Given the description of an element on the screen output the (x, y) to click on. 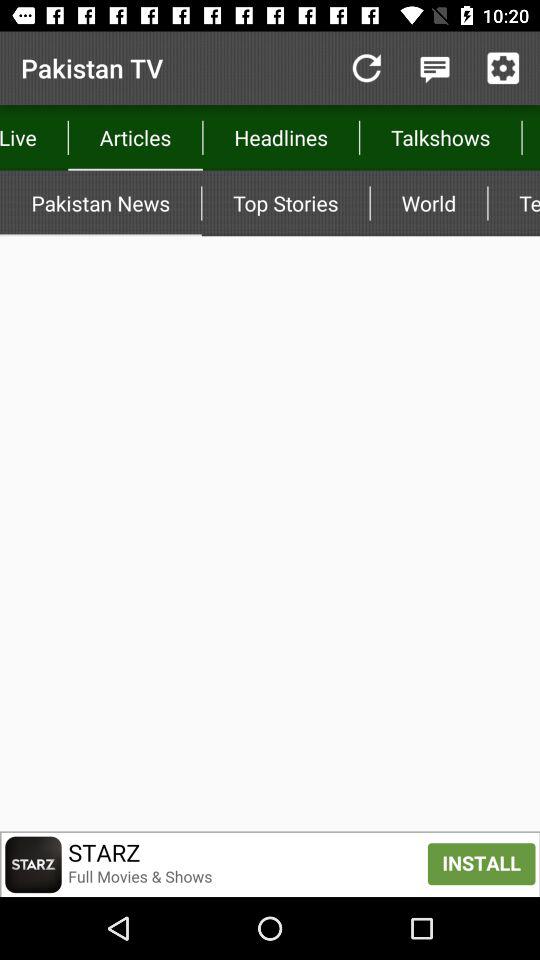
install the article (270, 864)
